Given the description of an element on the screen output the (x, y) to click on. 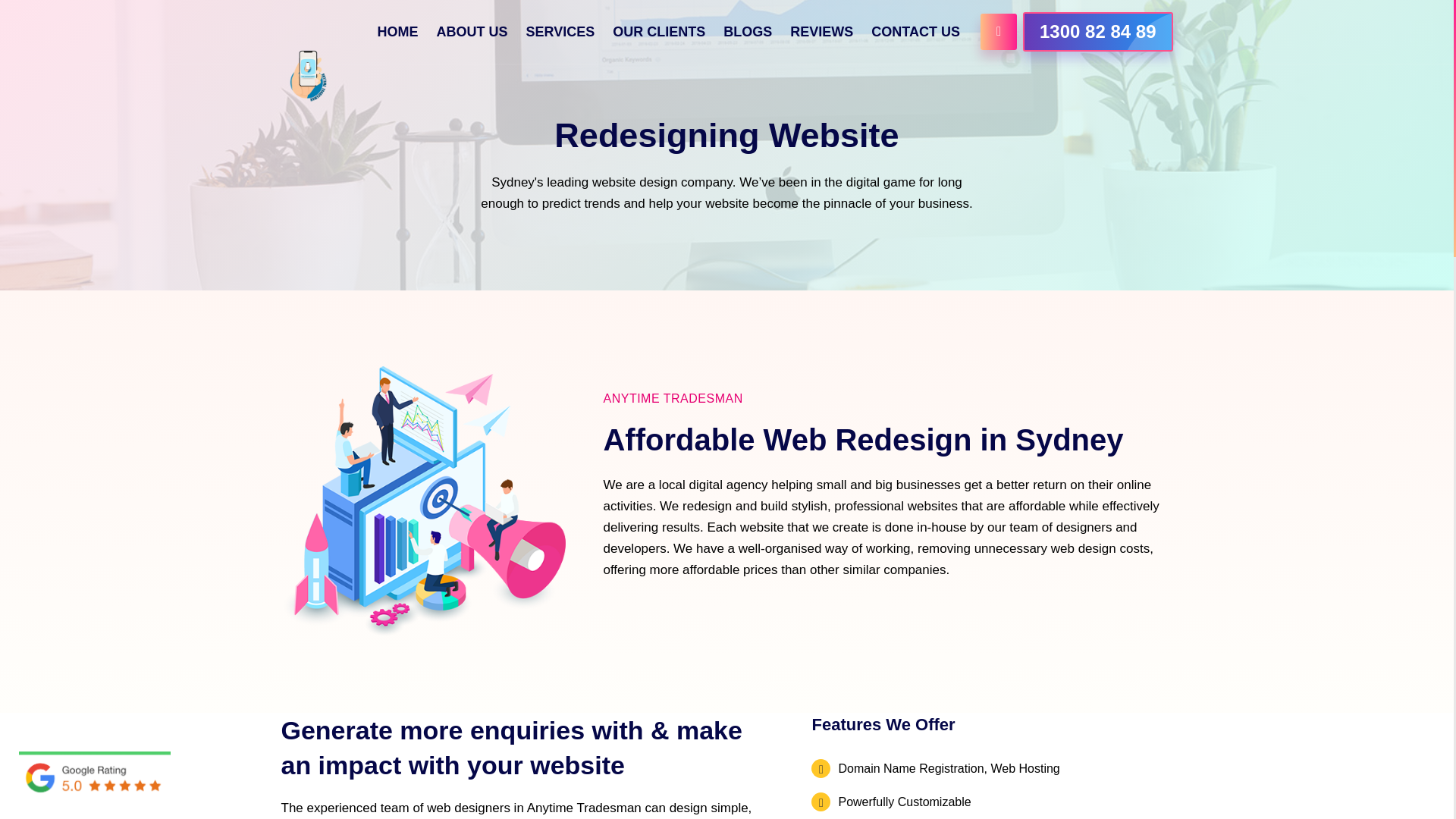
HOME (398, 32)
